Given the description of an element on the screen output the (x, y) to click on. 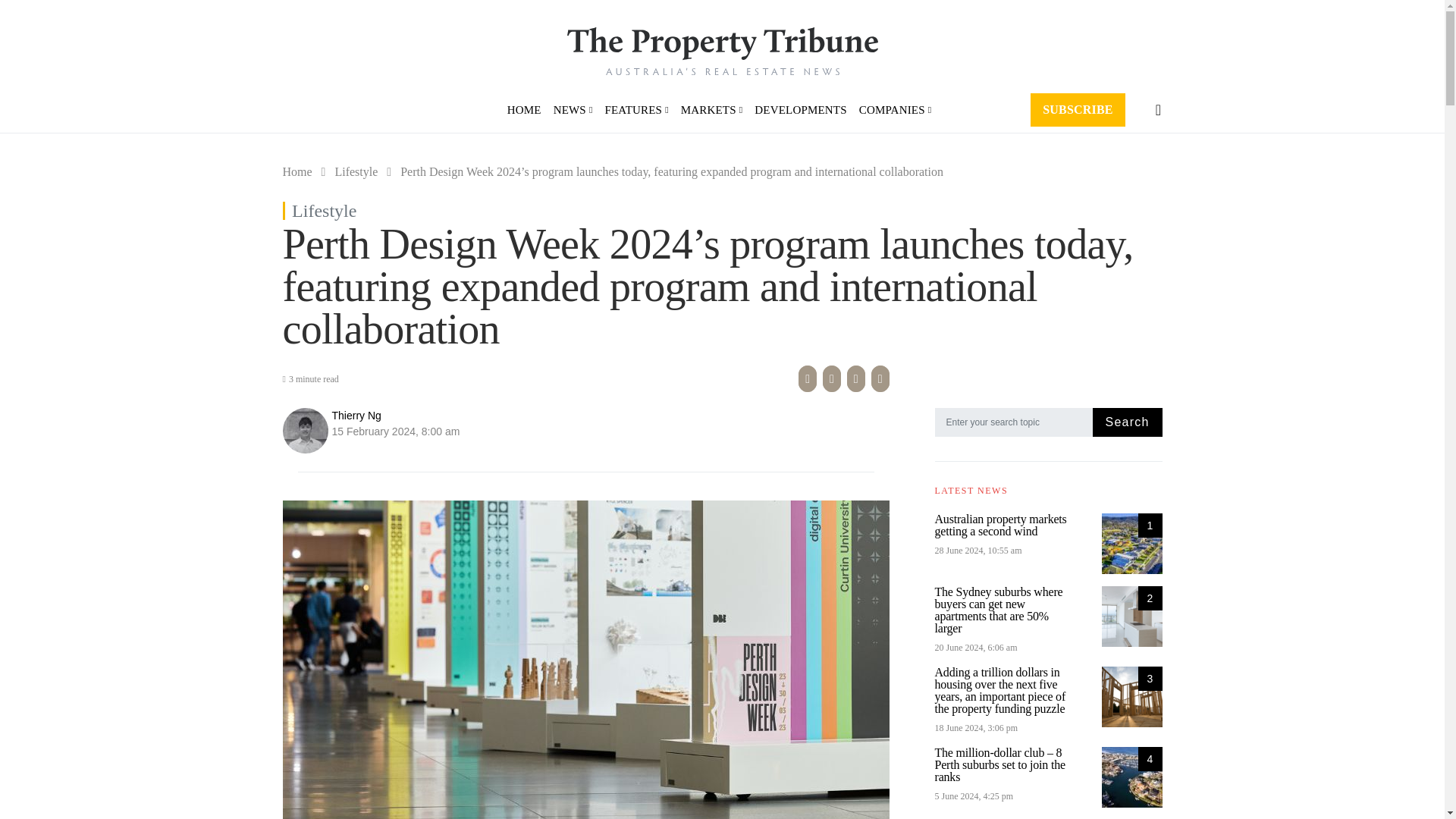
NEWS (572, 109)
